Given the description of an element on the screen output the (x, y) to click on. 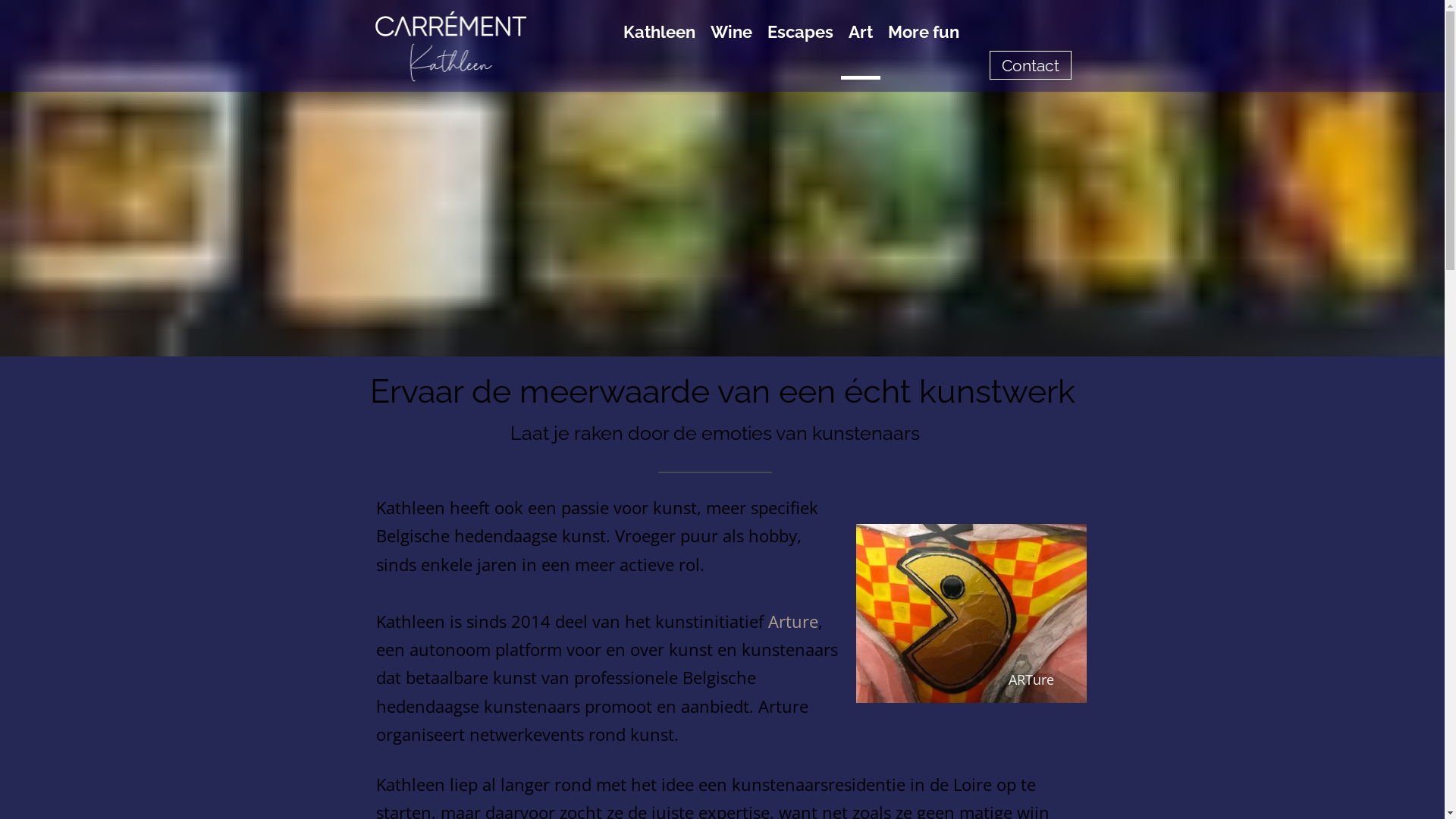
  Element type: text (970, 530)
Art Element type: text (859, 45)
Contact Element type: text (1030, 64)
Wine Element type: text (730, 45)
Arture, Element type: text (794, 620)
Escapes Element type: text (799, 45)
Kathleen Element type: text (658, 45)
More fun Element type: text (922, 45)
